Given the description of an element on the screen output the (x, y) to click on. 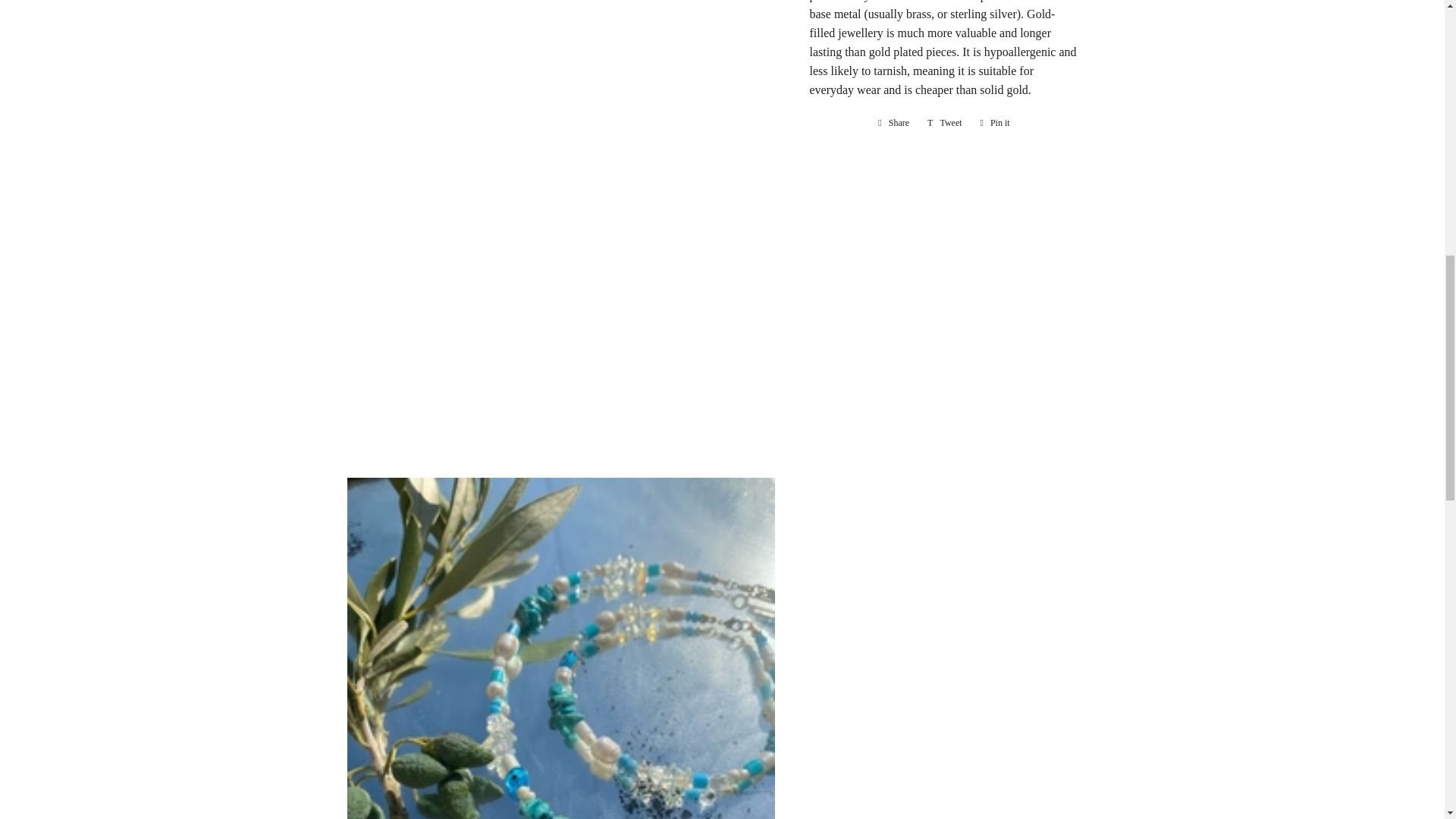
Tweet on Twitter (994, 122)
Pin on Pinterest (944, 122)
Share on Facebook (893, 122)
